Given the description of an element on the screen output the (x, y) to click on. 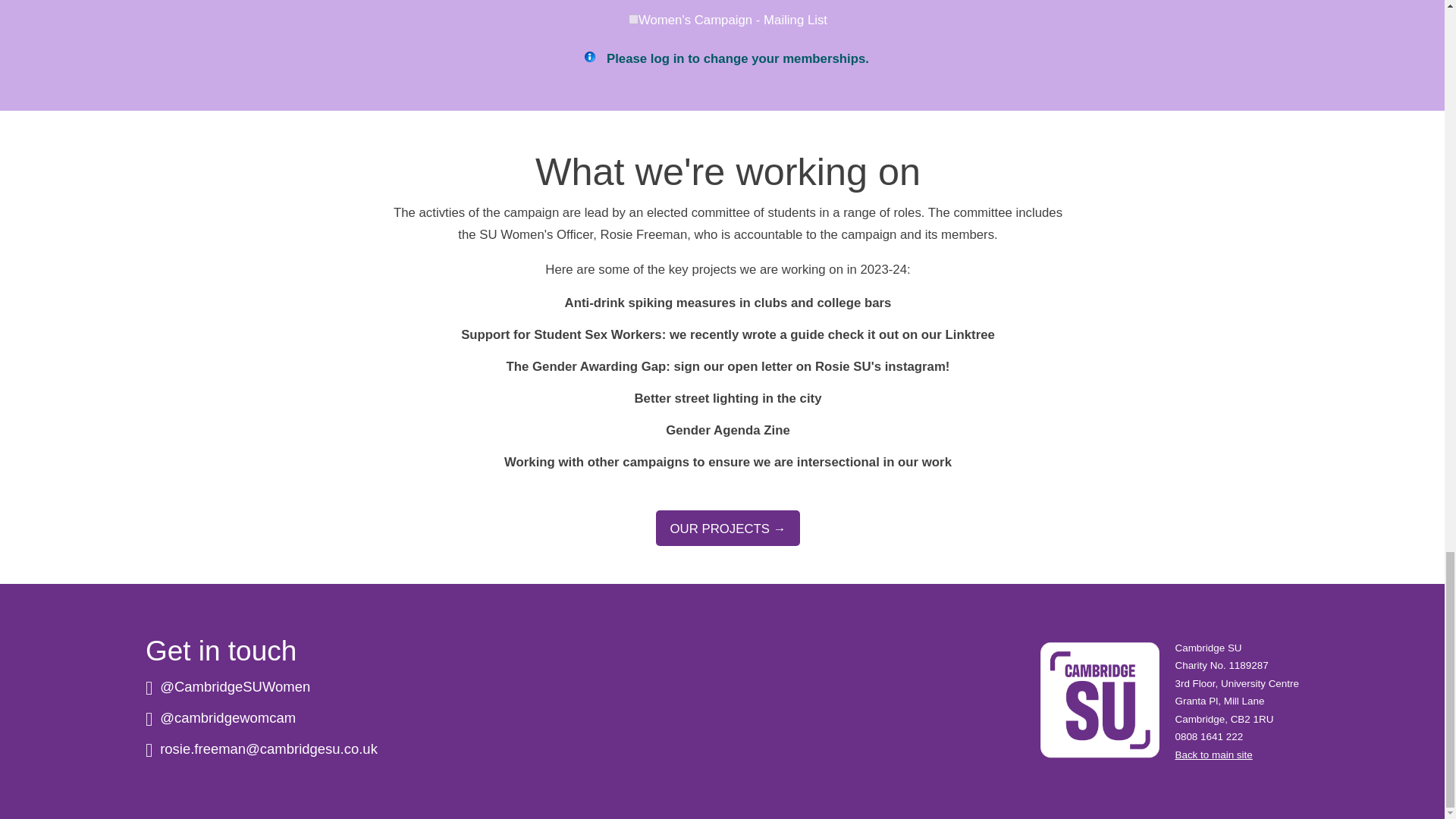
Back to main site (1213, 754)
on (633, 19)
Please log in to change your memberships. (738, 58)
